Given the description of an element on the screen output the (x, y) to click on. 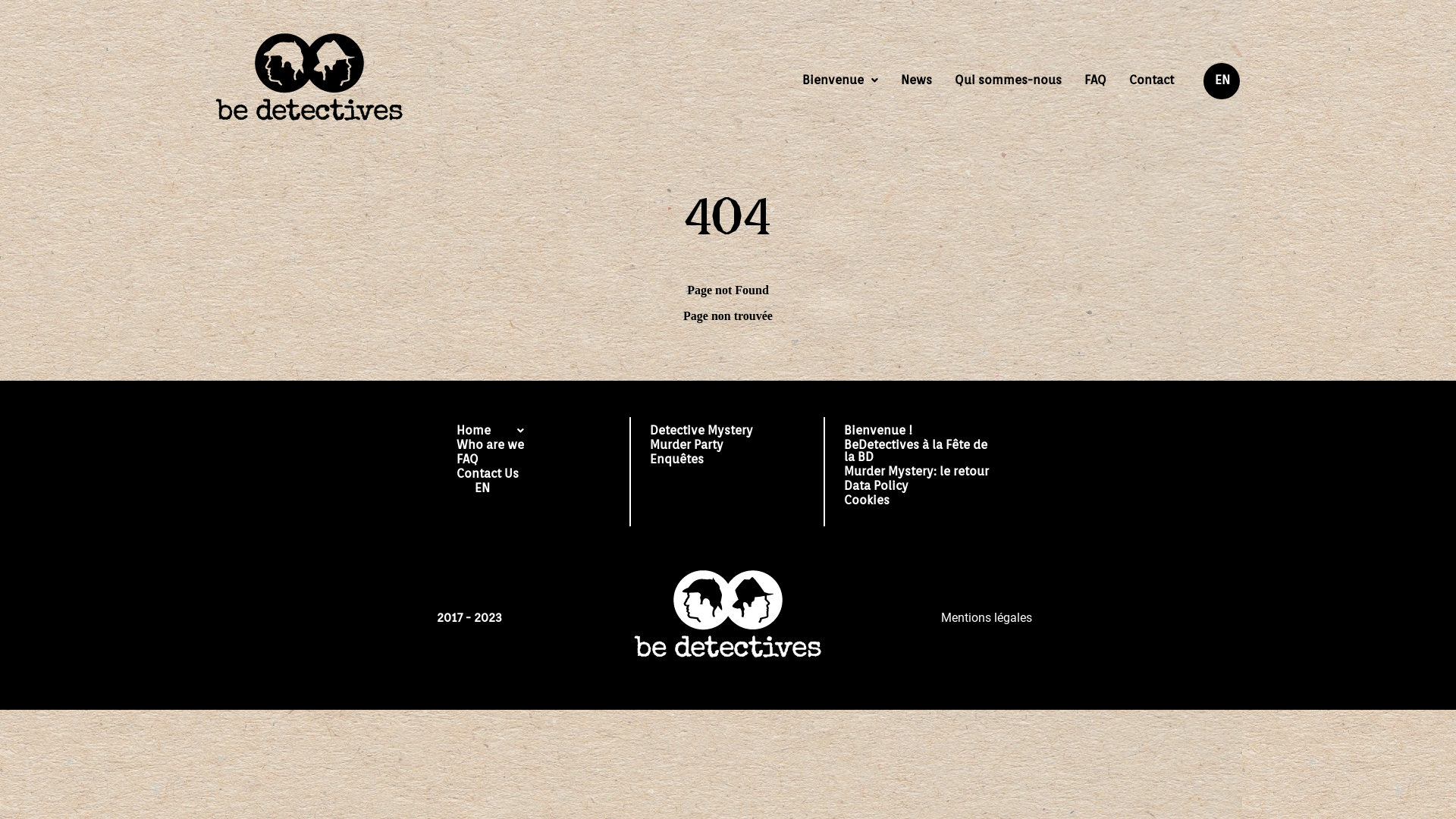
Qui sommes-nous Element type: text (1008, 79)
Bienvenue Element type: text (839, 79)
Data Policy Element type: text (921, 487)
FAQ Element type: text (1095, 79)
Bienvenue ! Element type: text (921, 431)
Contact Element type: text (1151, 79)
FAQ Element type: text (489, 460)
Cookies Element type: text (921, 501)
EN Element type: text (1221, 80)
Detective Mystery Element type: text (701, 431)
Who are we Element type: text (489, 446)
Home Element type: text (489, 431)
EN Element type: text (480, 500)
Murder Mystery: le retour Element type: text (921, 472)
Contact Us Element type: text (489, 474)
News Element type: text (916, 79)
Murder Party Element type: text (701, 446)
